Given the description of an element on the screen output the (x, y) to click on. 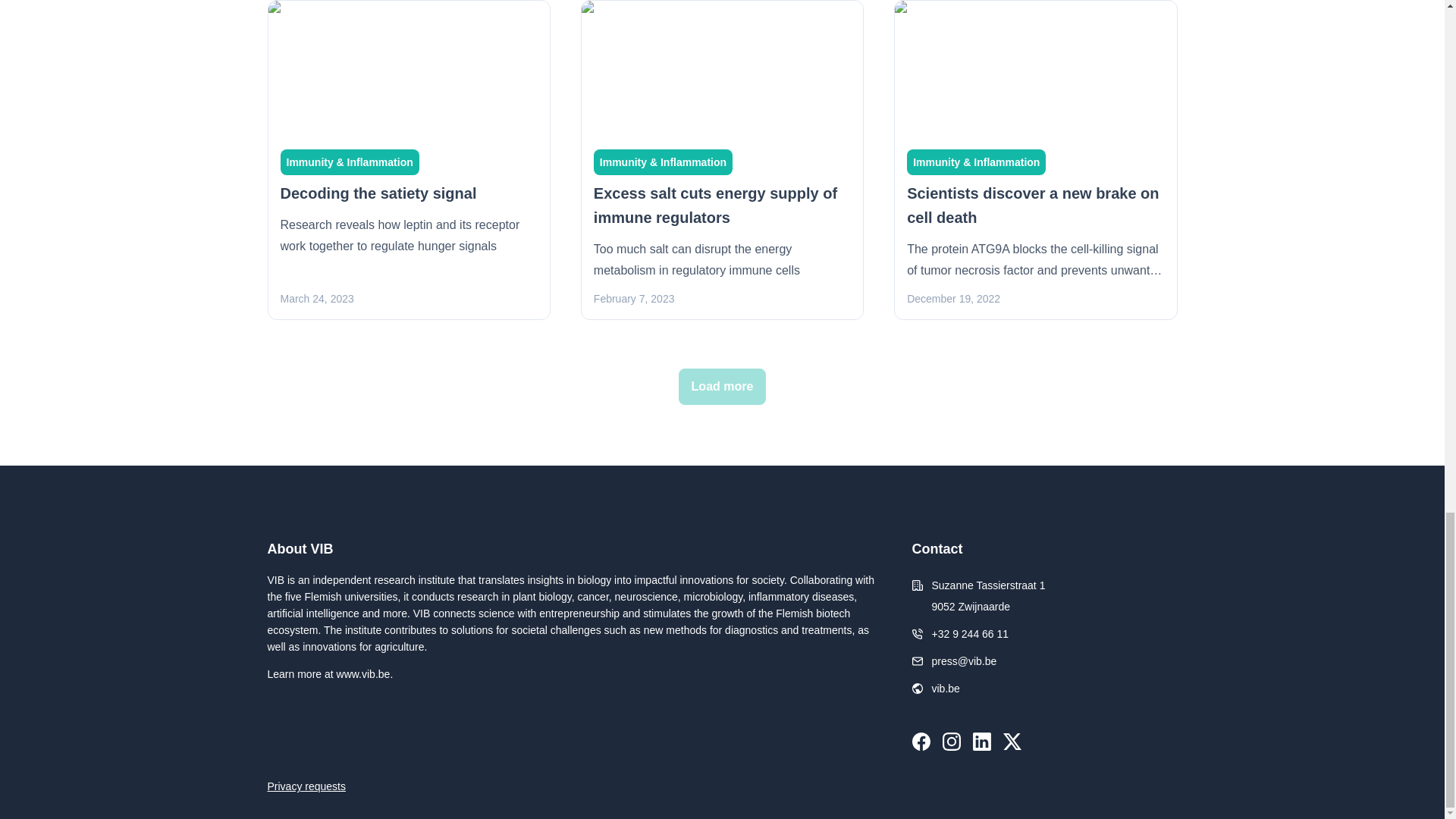
Scientists discover a new brake on cell death (1032, 205)
Load more (722, 386)
Excess salt cuts energy supply of immune regulators (715, 205)
Decoding the satiety signal (379, 193)
